Given the description of an element on the screen output the (x, y) to click on. 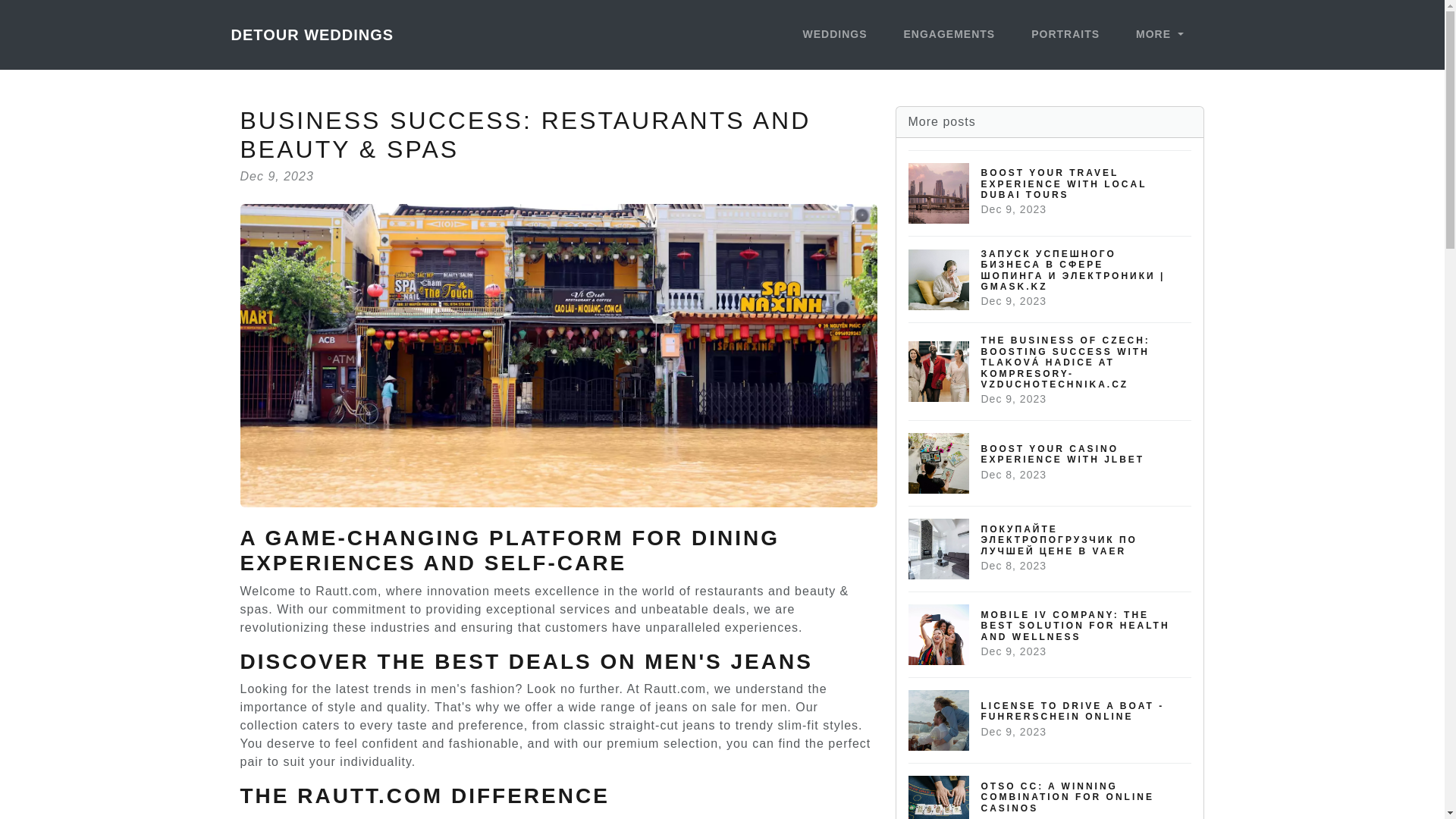
MORE (1050, 463)
WEDDINGS (1159, 34)
ENGAGEMENTS (834, 34)
DETOUR WEDDINGS (948, 34)
PORTRAITS (311, 34)
